Given the description of an element on the screen output the (x, y) to click on. 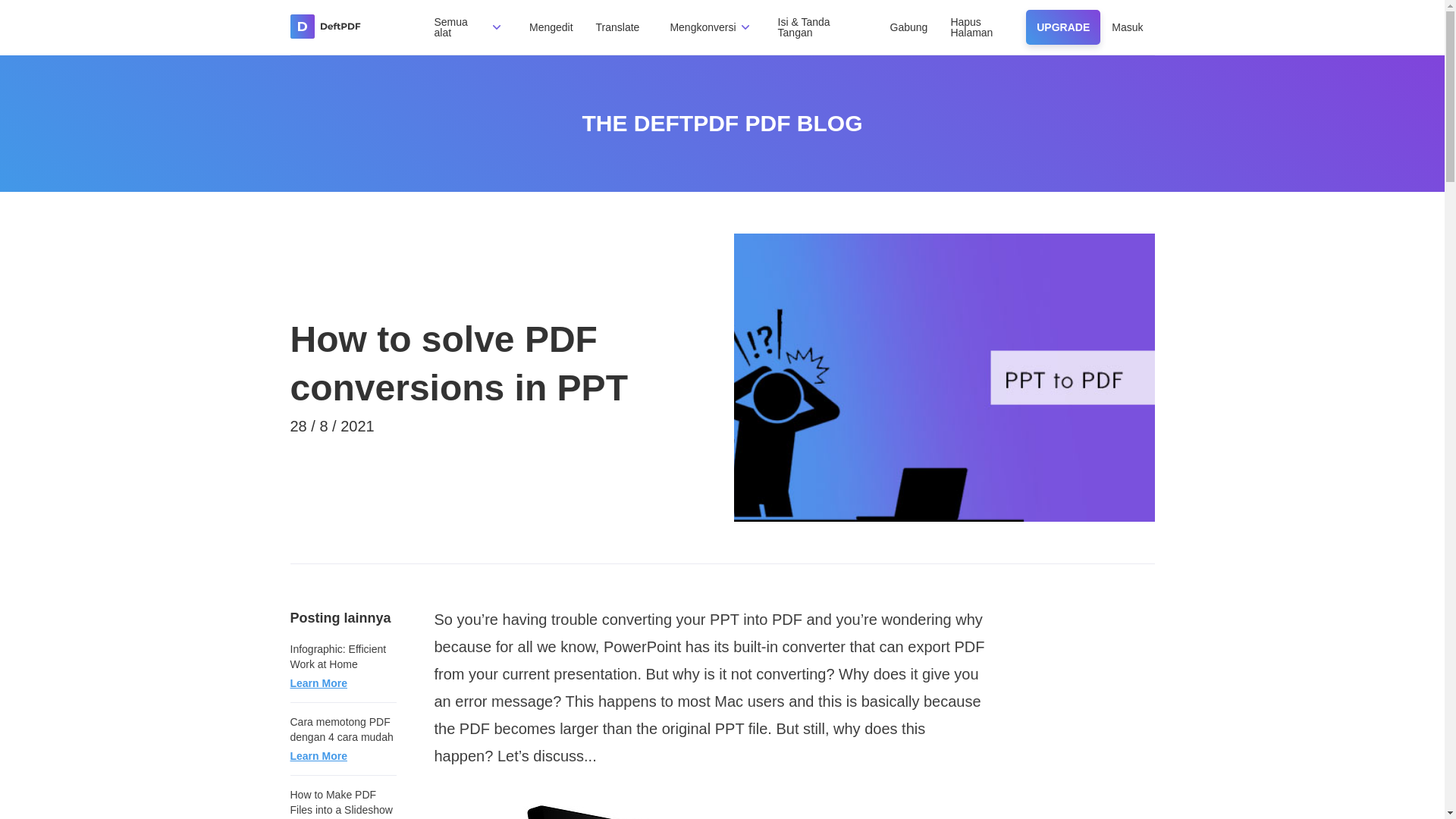
Gabung (908, 27)
Translate (617, 27)
Mengedit (551, 27)
Mengkonversi (702, 27)
Semua alat (450, 26)
Masuk (1127, 27)
UPGRADE (1063, 27)
Hapus Halaman (971, 26)
